Given the description of an element on the screen output the (x, y) to click on. 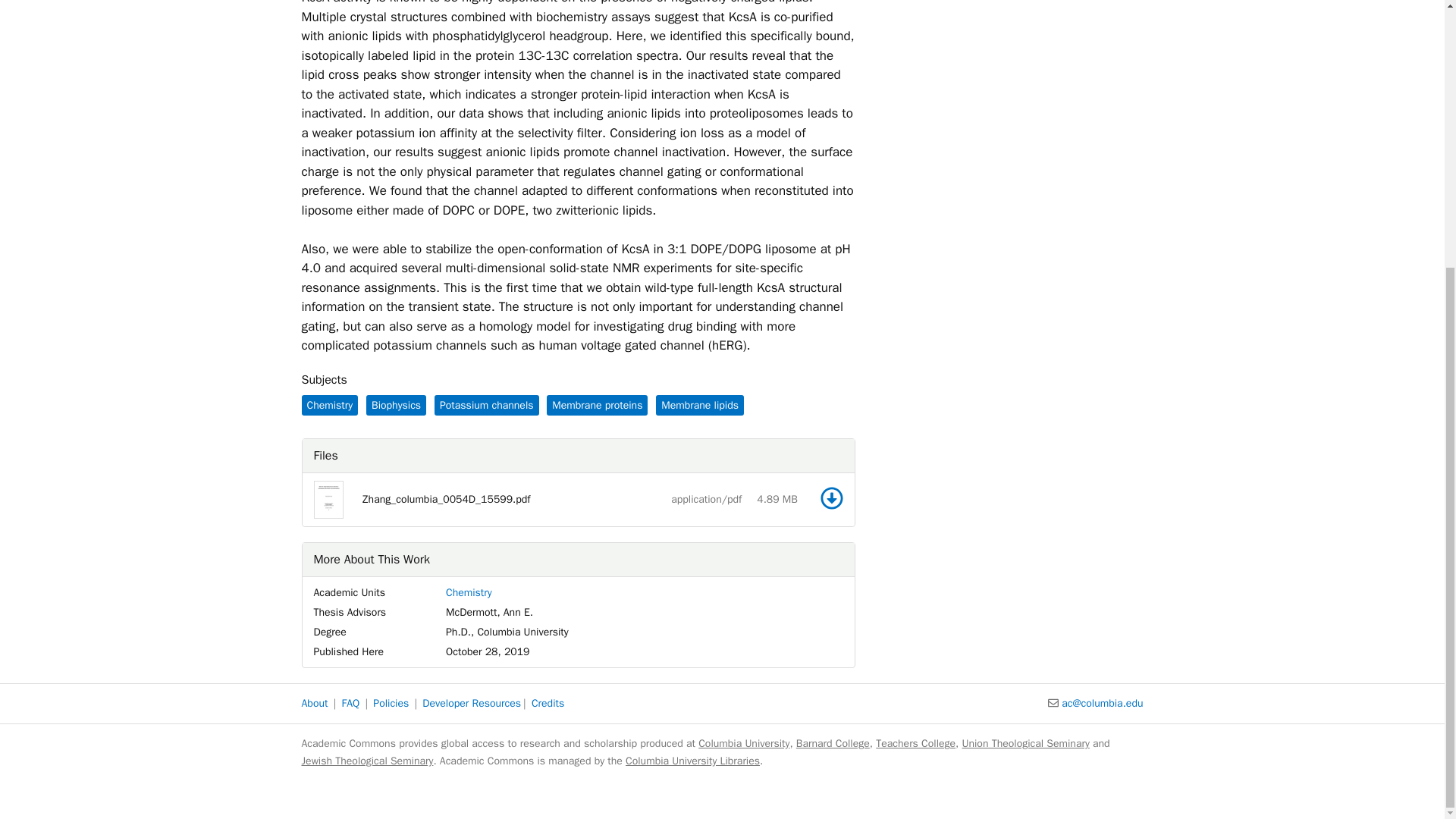
Jewish Theological Seminary (367, 760)
Teachers College (915, 743)
About (315, 703)
FAQ (349, 703)
Barnard College (832, 743)
Biophysics (396, 404)
Chemistry (468, 592)
Columbia University Libraries (693, 760)
Developer Resources (471, 703)
Potassium channels (485, 404)
